Given the description of an element on the screen output the (x, y) to click on. 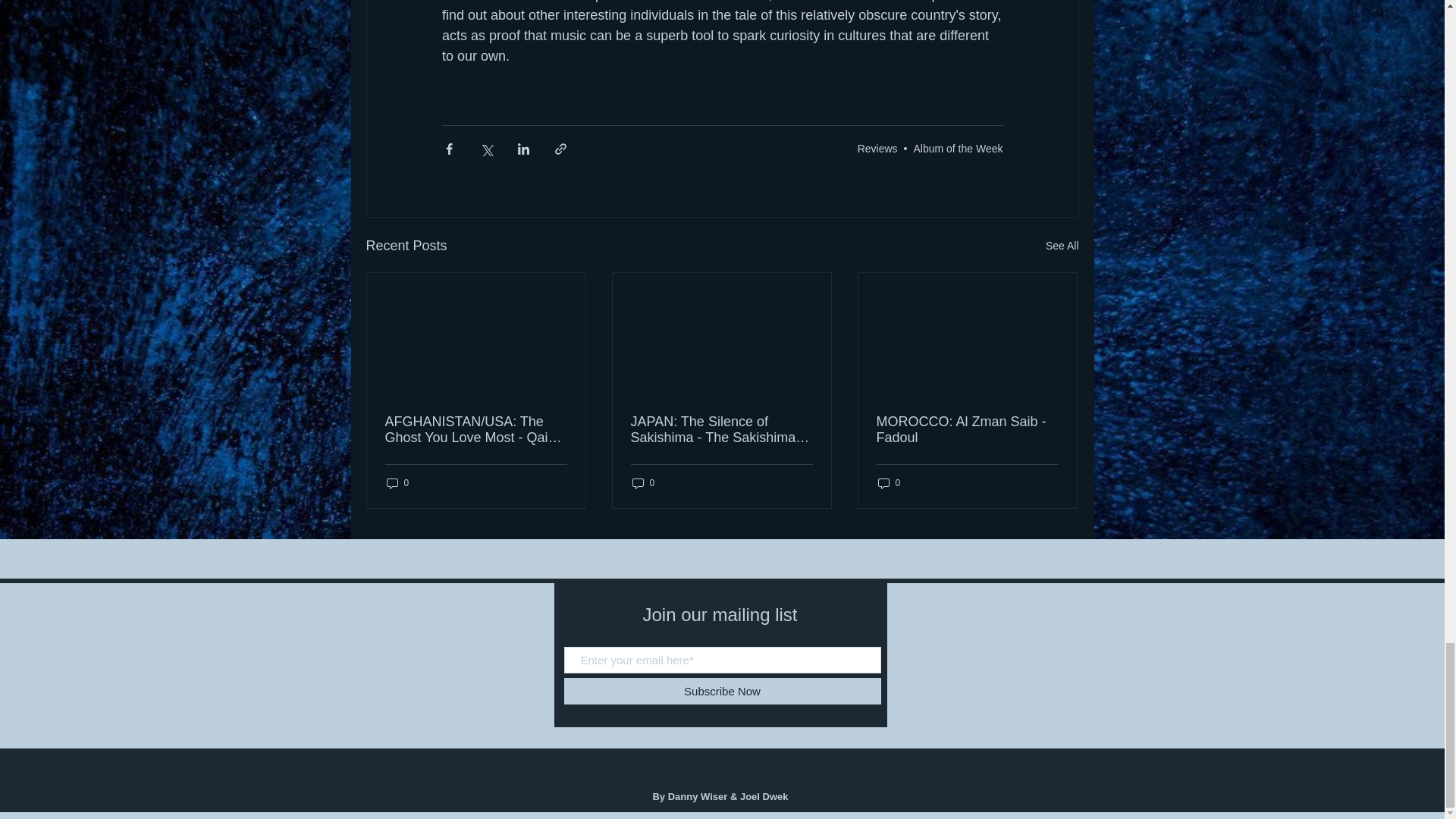
See All (1061, 246)
Reviews (877, 147)
Album of the Week (957, 147)
0 (397, 482)
JAPAN: The Silence of Sakishima - The Sakishima Meeting (721, 429)
